Given the description of an element on the screen output the (x, y) to click on. 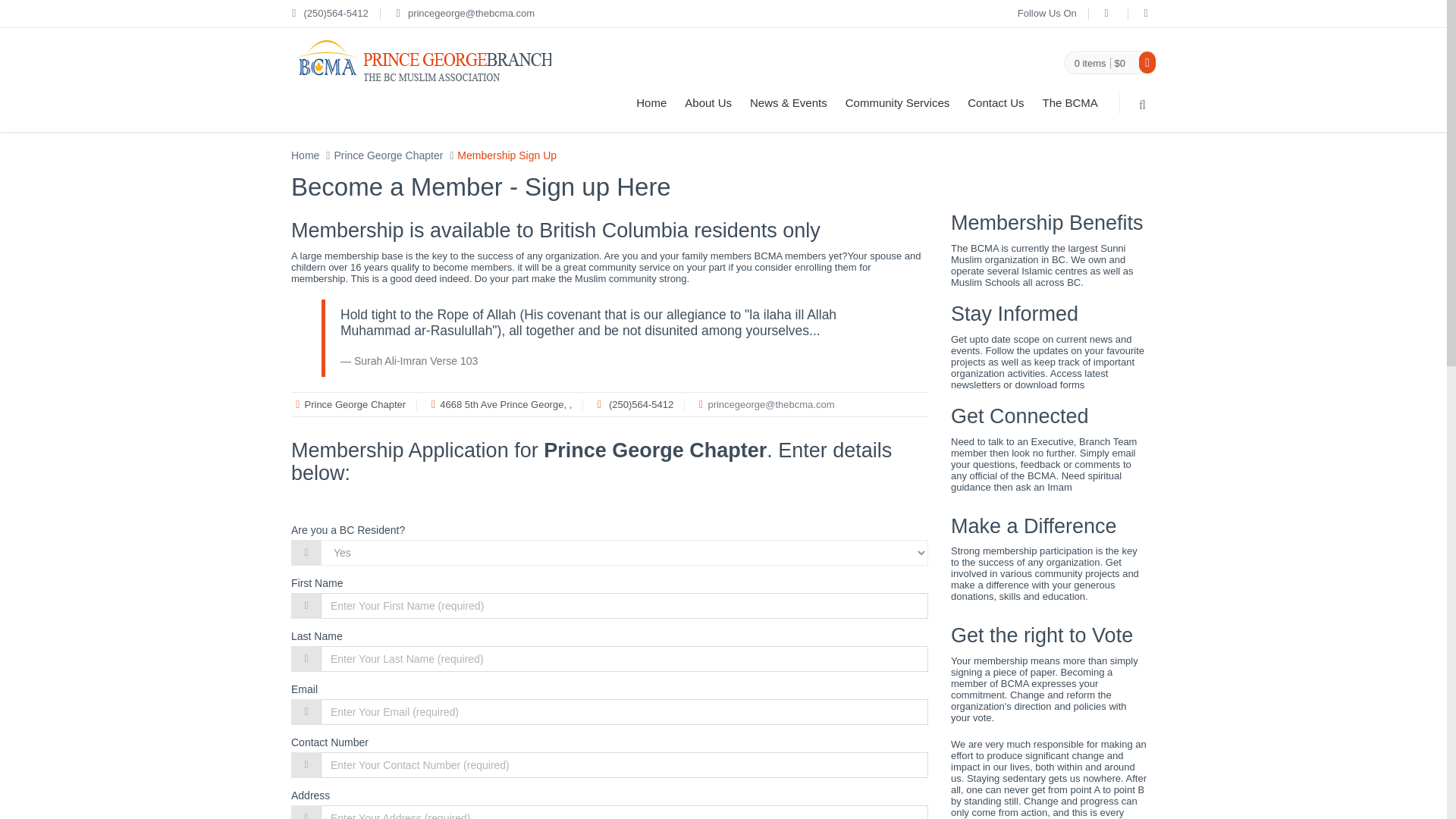
The BCMA (1069, 102)
Prince George Chapter (387, 155)
Home (304, 155)
About Us (708, 102)
Community Services (897, 102)
0 items (1090, 63)
Source Title (453, 360)
Contact Us (995, 102)
